Given the description of an element on the screen output the (x, y) to click on. 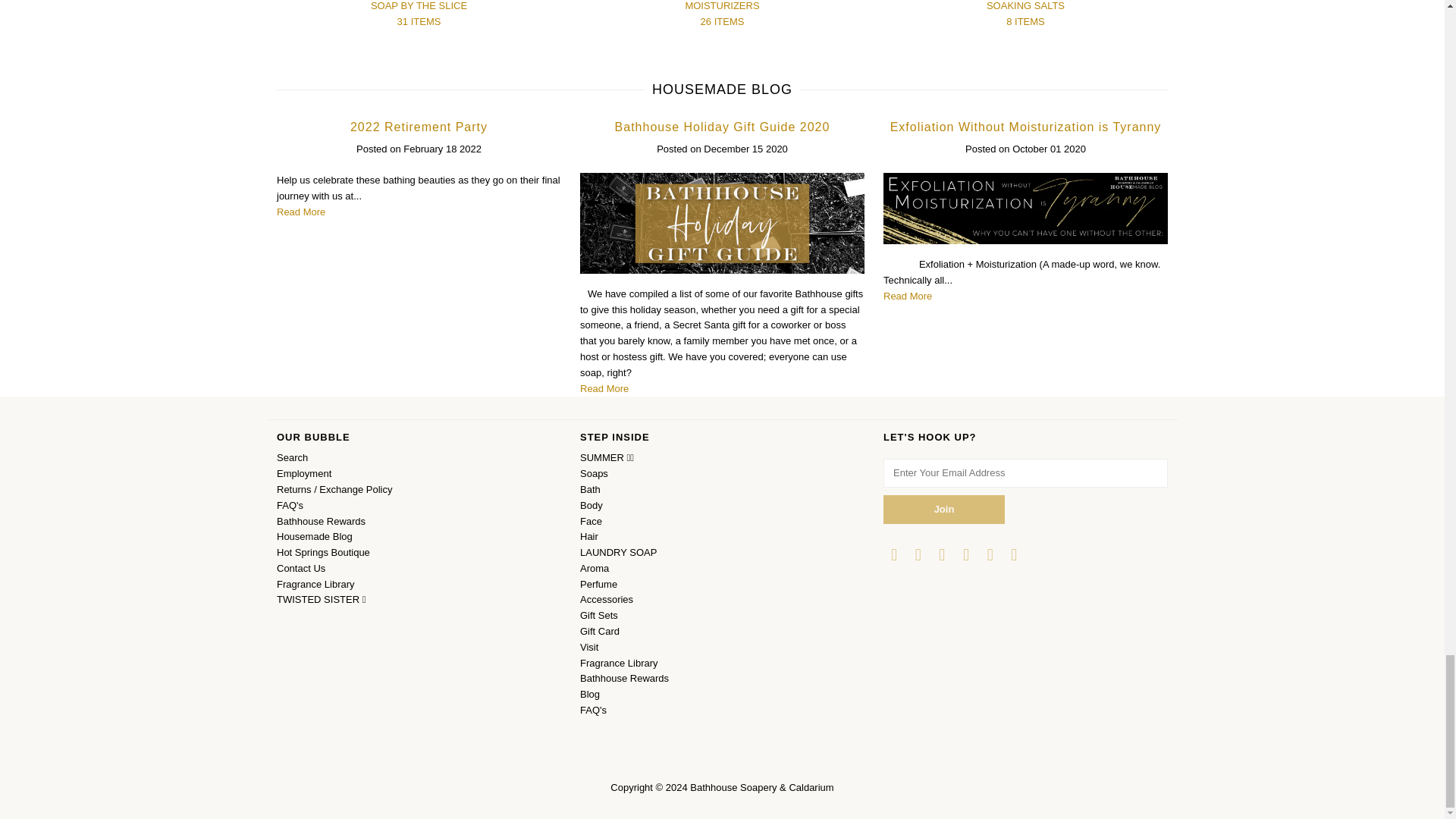
Join (943, 509)
